Given the description of an element on the screen output the (x, y) to click on. 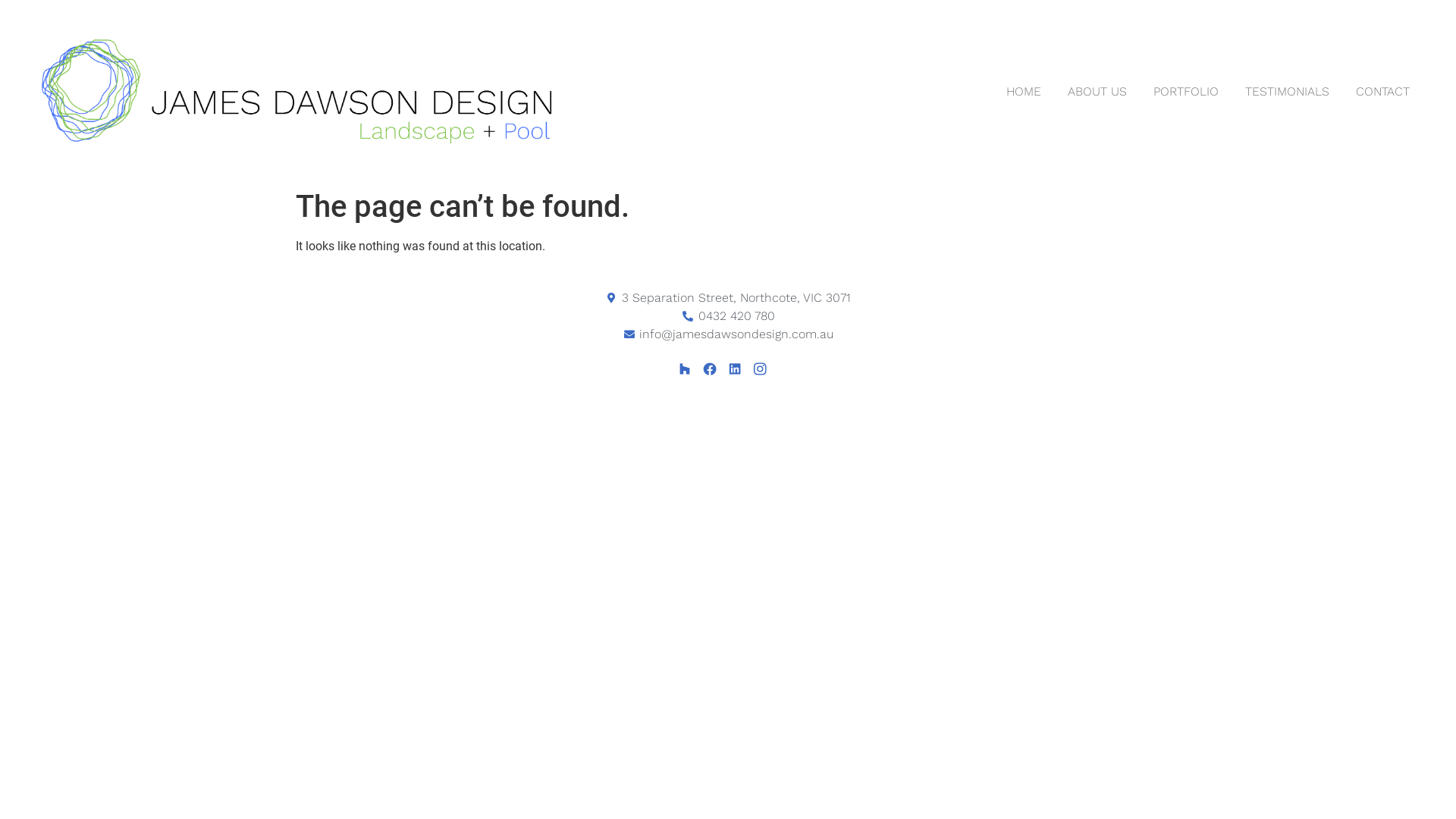
ABOUT US Element type: text (1097, 90)
0432 420 780 Element type: text (727, 316)
HOME Element type: text (1023, 90)
CONTACT Element type: text (1382, 90)
info@jamesdawsondesign.com.au Element type: text (727, 334)
3 Separation Street, Northcote, VIC 3071 Element type: text (727, 297)
TESTIMONIALS Element type: text (1286, 90)
PORTFOLIO Element type: text (1186, 90)
